Given the description of an element on the screen output the (x, y) to click on. 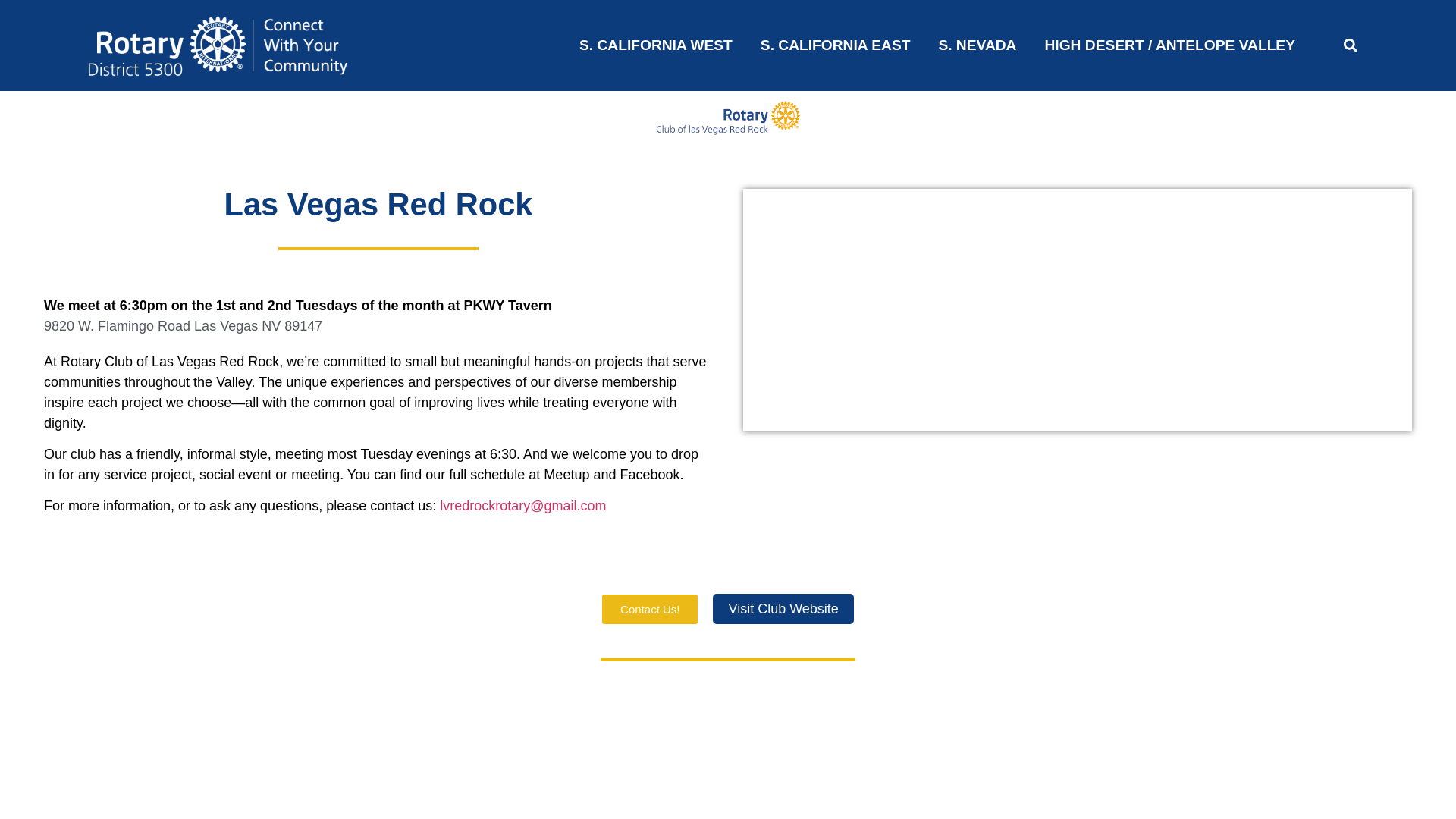
S. CALIFORNIA EAST (835, 45)
S. NEVADA (976, 45)
S. CALIFORNIA WEST (655, 45)
